Given the description of an element on the screen output the (x, y) to click on. 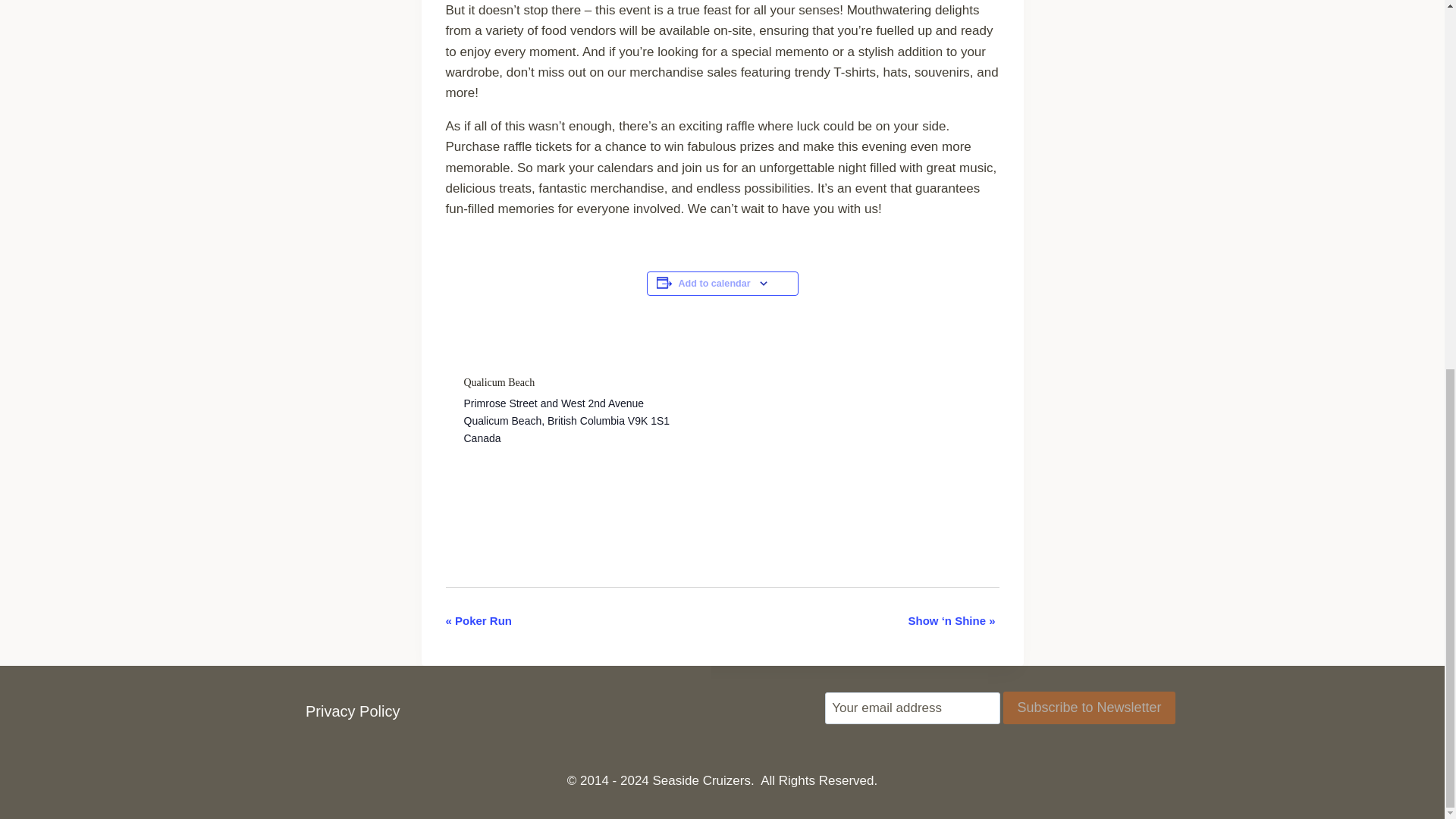
Google maps iframe displaying the address to Qualicum Beach (850, 471)
British Columbia (585, 420)
Subscribe to Newsletter (1088, 707)
Subscribe to Newsletter (1088, 707)
Add to calendar (713, 283)
Privacy Policy (351, 710)
